Given the description of an element on the screen output the (x, y) to click on. 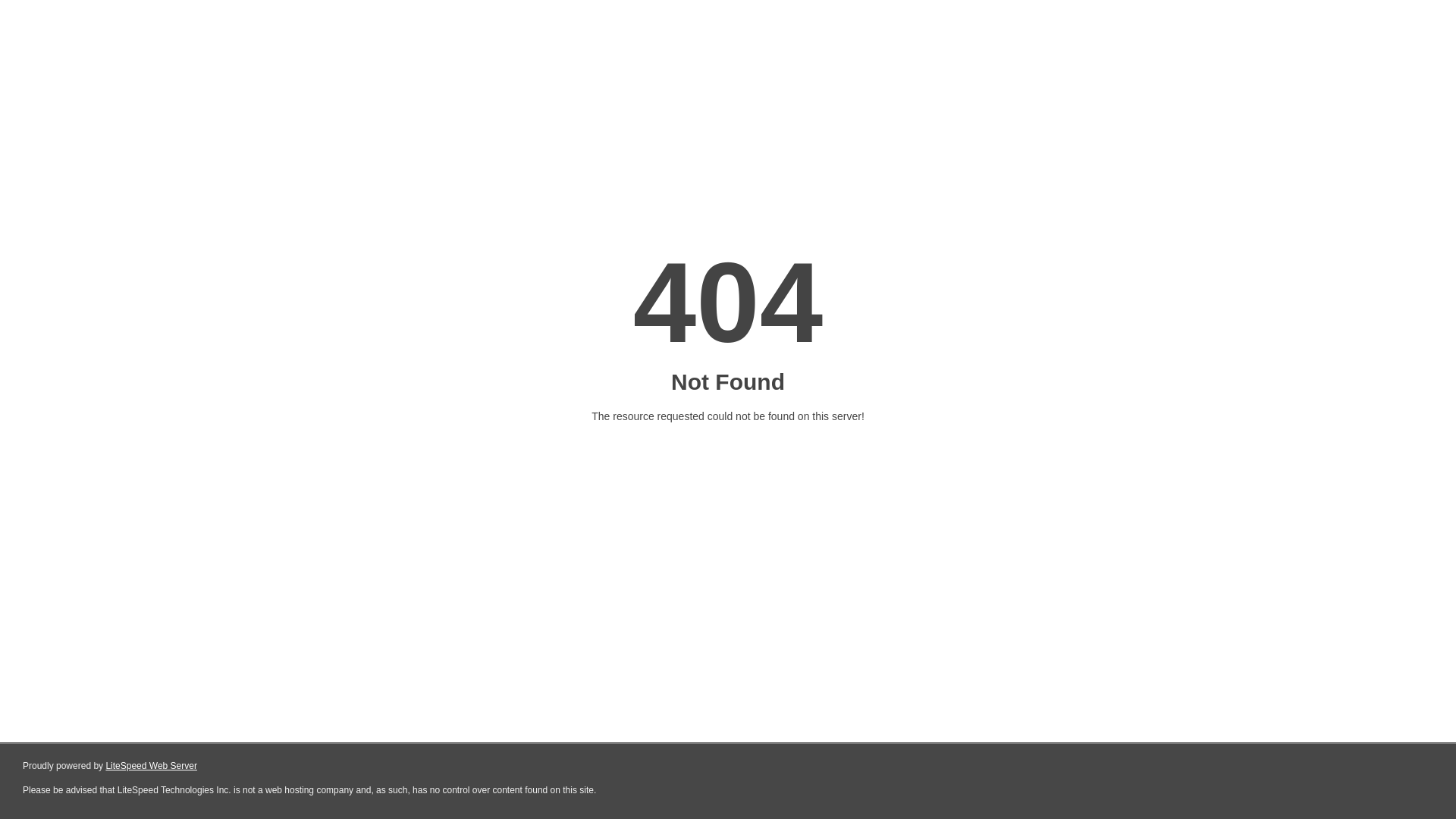
LiteSpeed Web Server Element type: text (151, 765)
